Given the description of an element on the screen output the (x, y) to click on. 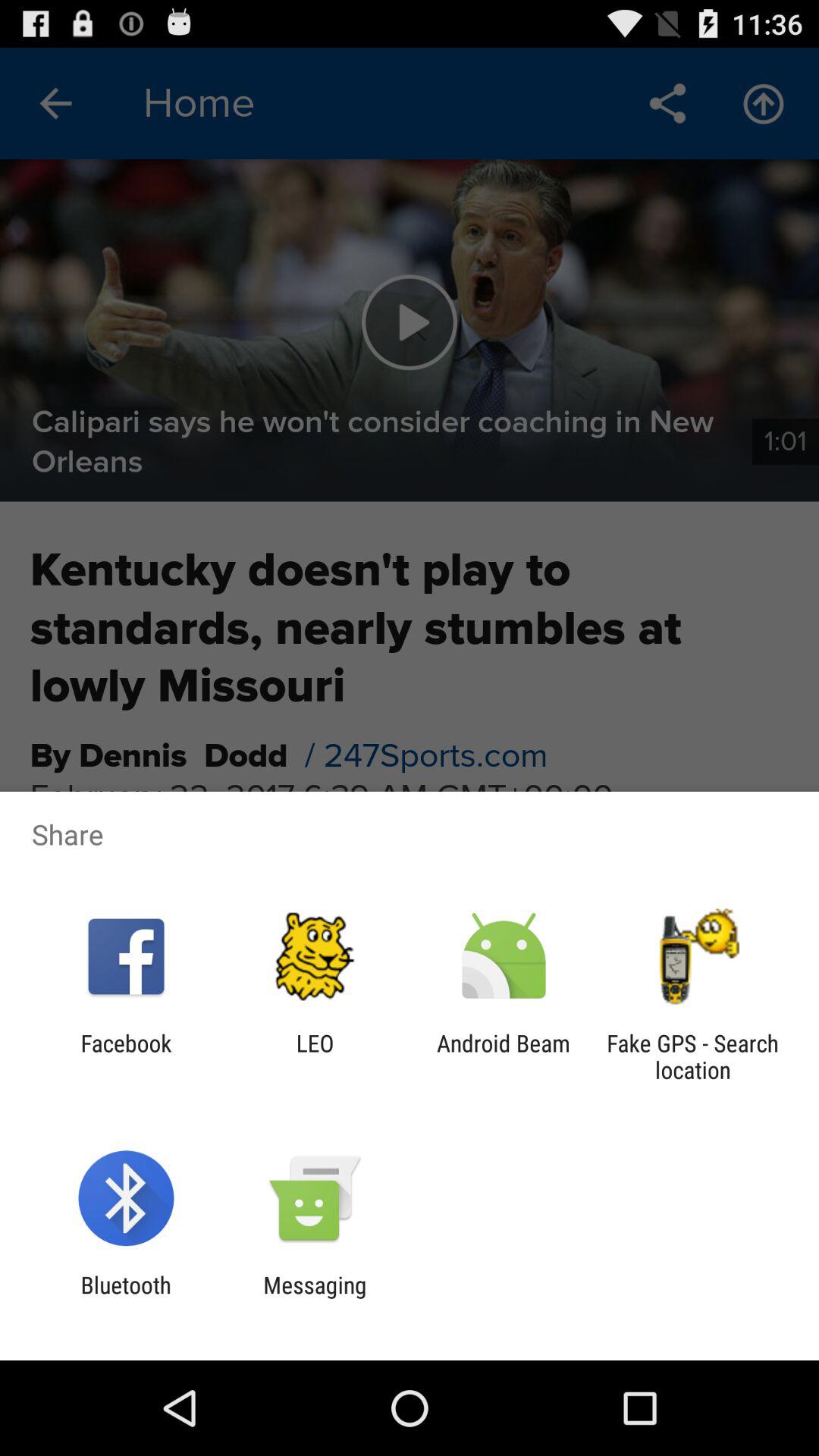
scroll until messaging (314, 1298)
